Given the description of an element on the screen output the (x, y) to click on. 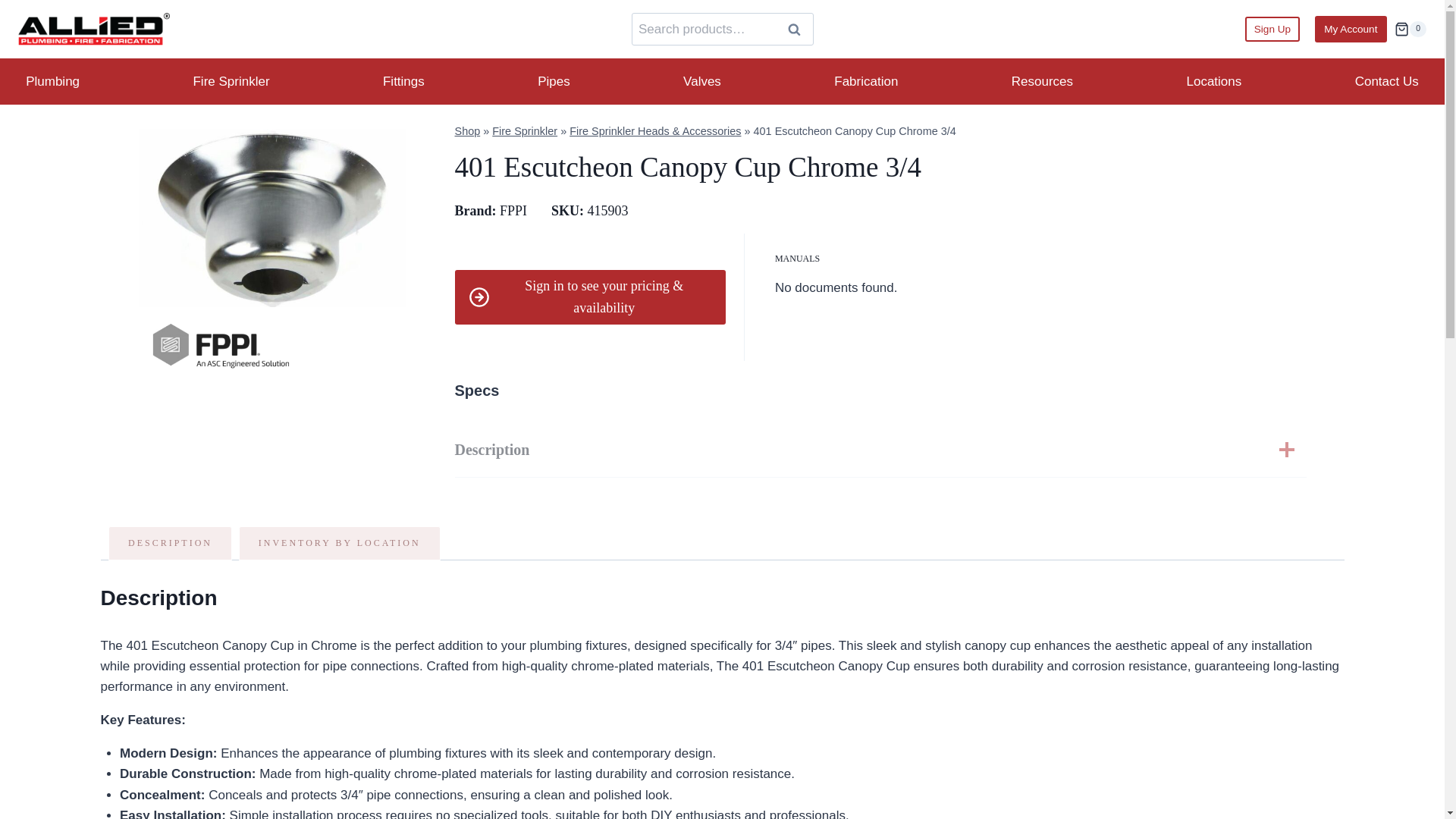
Shop (467, 131)
Fire Sprinkler (524, 131)
DESCRIPTION (169, 543)
Sign Up (1271, 29)
Locations (1213, 81)
INVENTORY BY LOCATION (339, 543)
Description (880, 449)
Resources (1042, 81)
Pipes (553, 81)
Valves (702, 81)
